Given the description of an element on the screen output the (x, y) to click on. 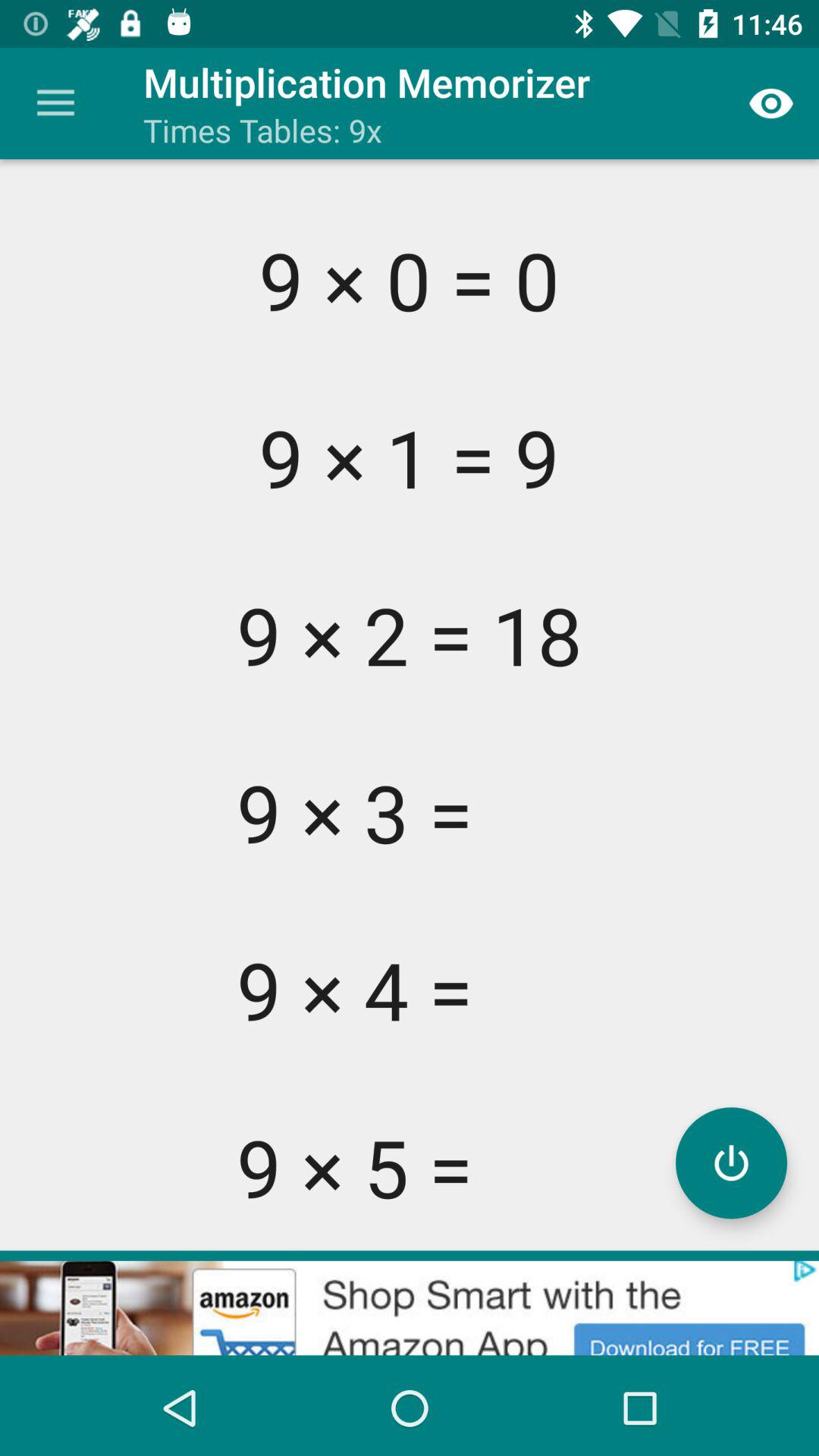
turn off/on (731, 1162)
